Given the description of an element on the screen output the (x, y) to click on. 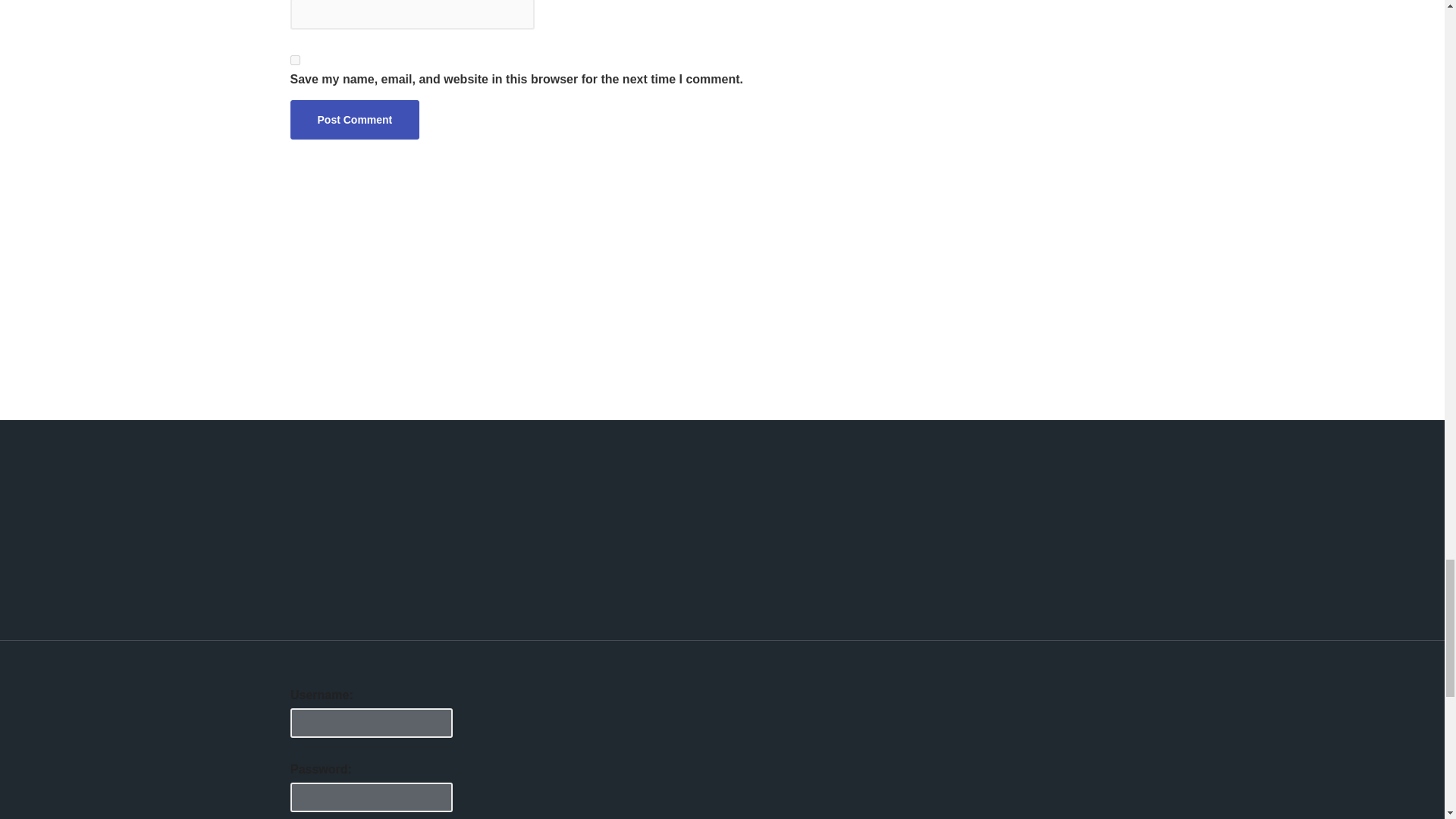
yes (294, 60)
Post Comment (354, 119)
Post Comment (354, 119)
